Given the description of an element on the screen output the (x, y) to click on. 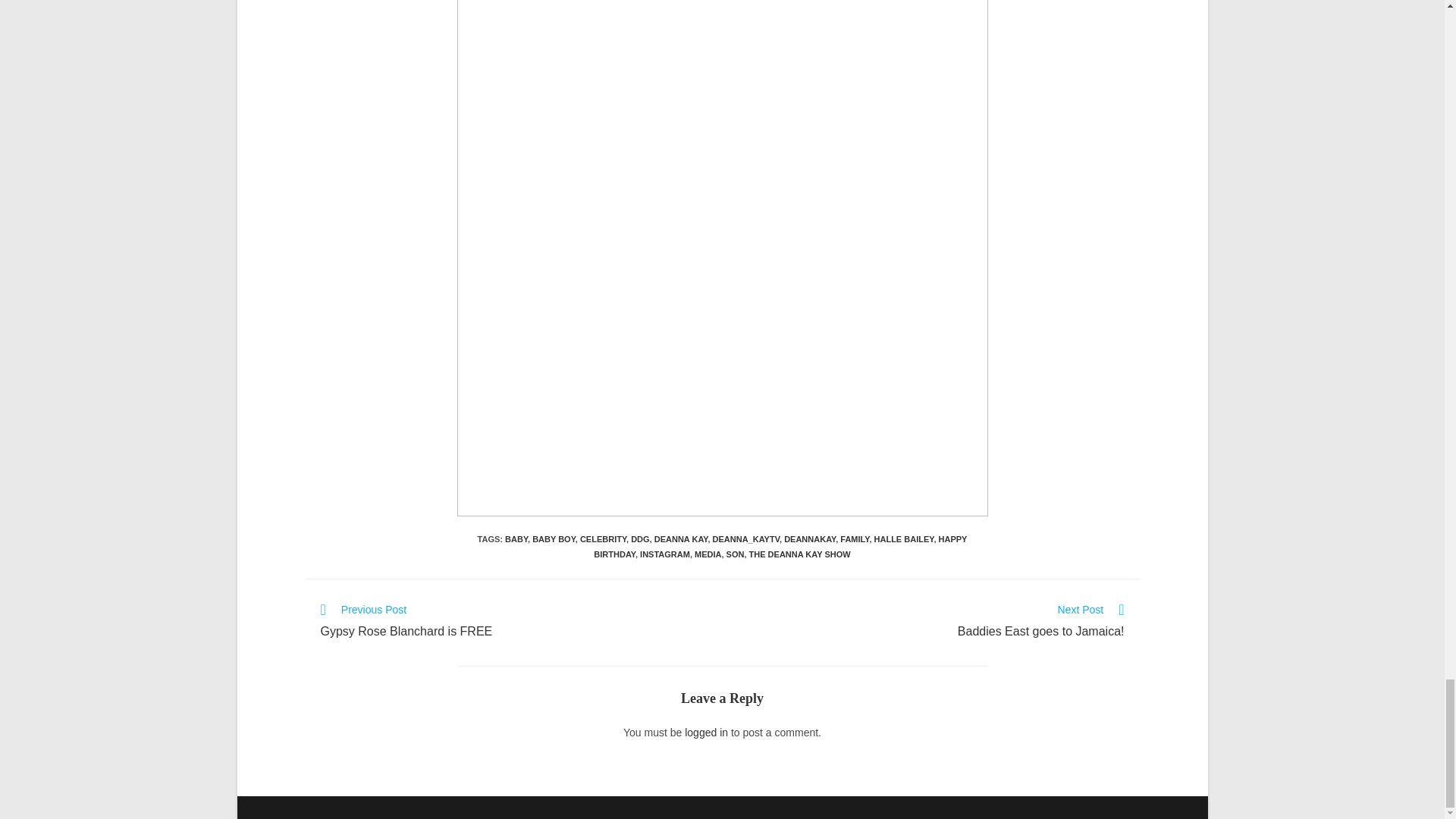
DEANNA KAY (680, 538)
BABY (516, 538)
DEANNAKAY (809, 538)
CELEBRITY (602, 538)
DDG (639, 538)
BABY BOY (553, 538)
